Given the description of an element on the screen output the (x, y) to click on. 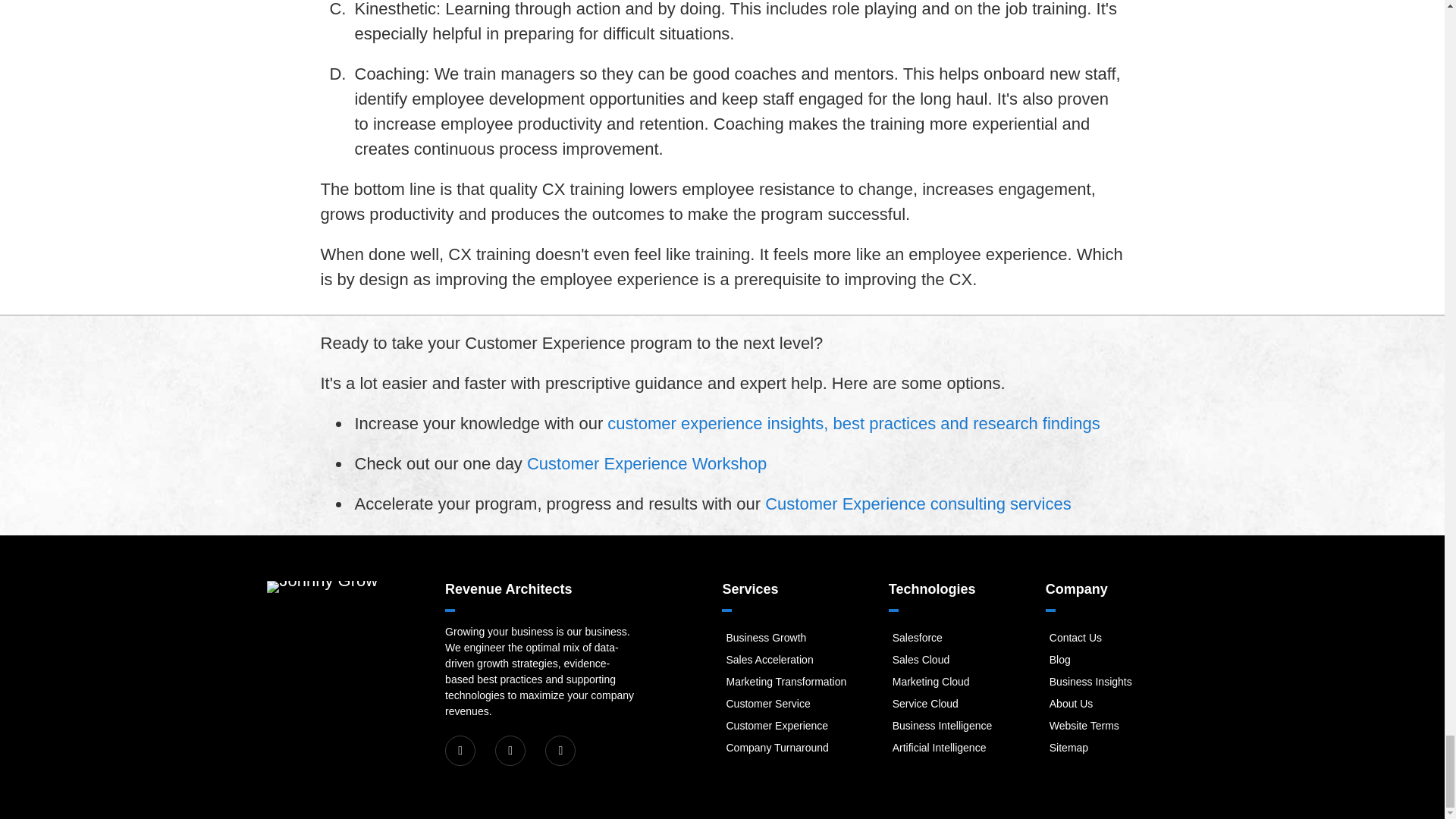
Johnny Grow (321, 586)
Marketing Consultant (785, 681)
Company Turnaround Consultant (776, 747)
Customer Service Consultant (767, 703)
Business Growth Consultant (765, 637)
Customer Experience Consultant (776, 725)
Sales Consultant (768, 659)
